Given the description of an element on the screen output the (x, y) to click on. 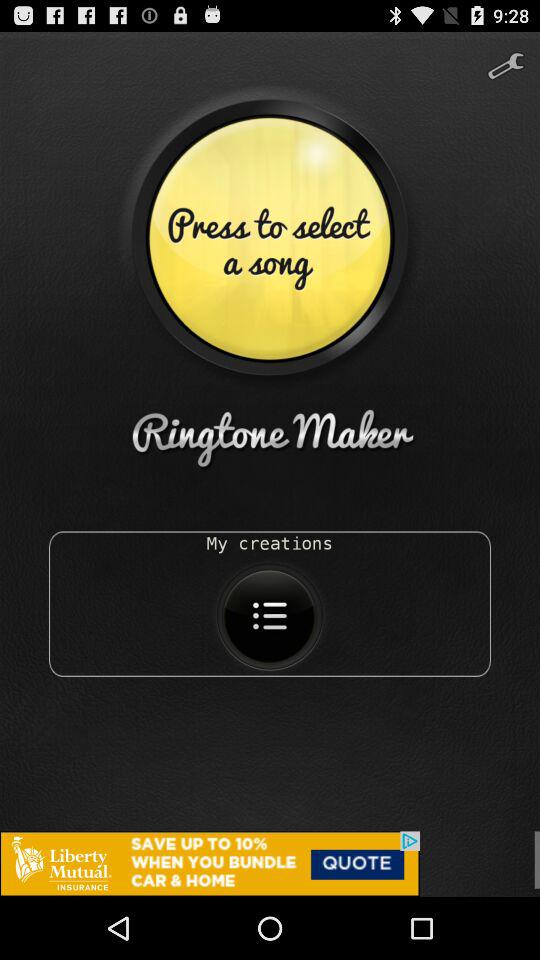
advertisement (270, 864)
